Given the description of an element on the screen output the (x, y) to click on. 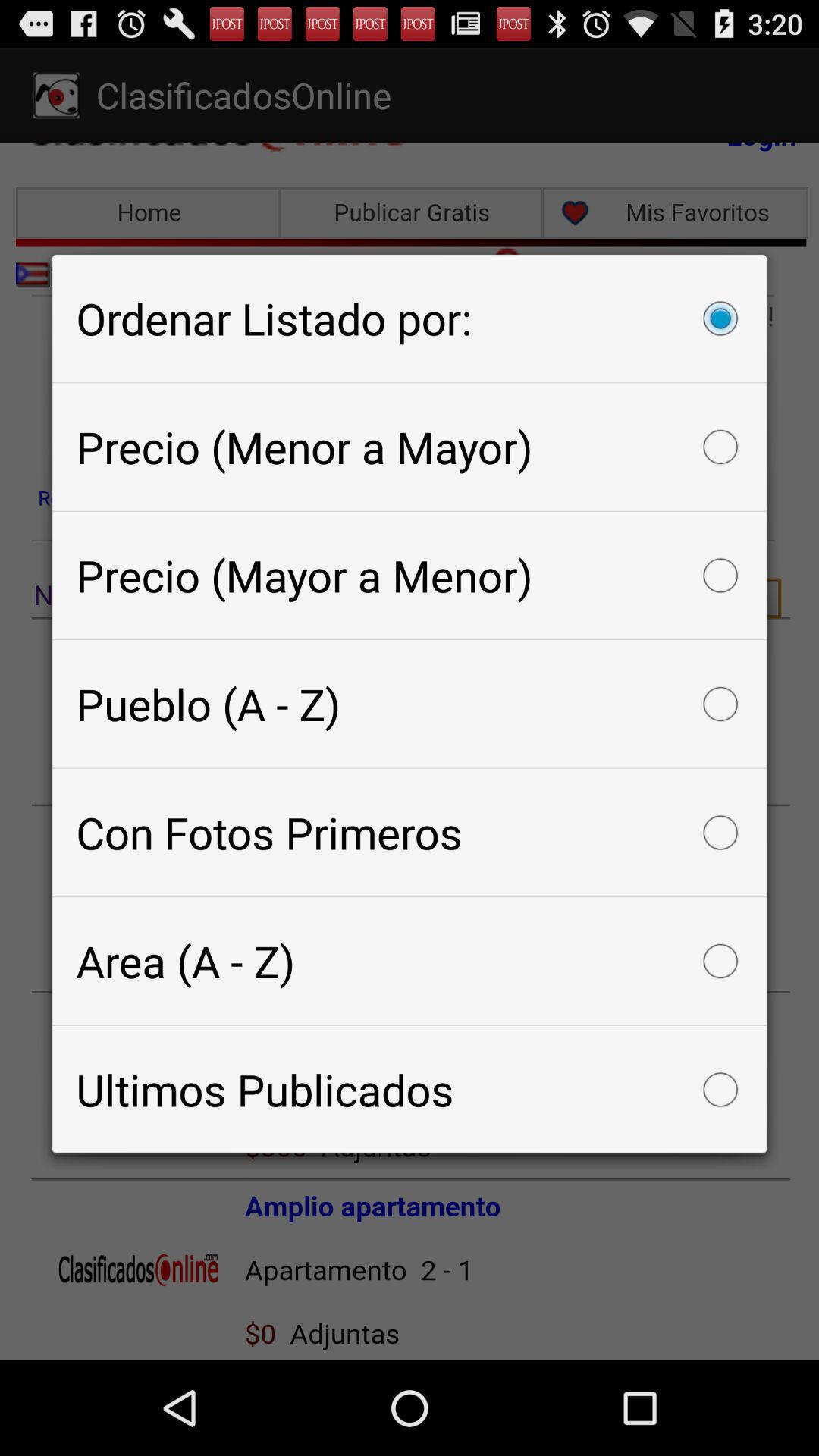
jump to the con fotos primeros item (409, 832)
